Given the description of an element on the screen output the (x, y) to click on. 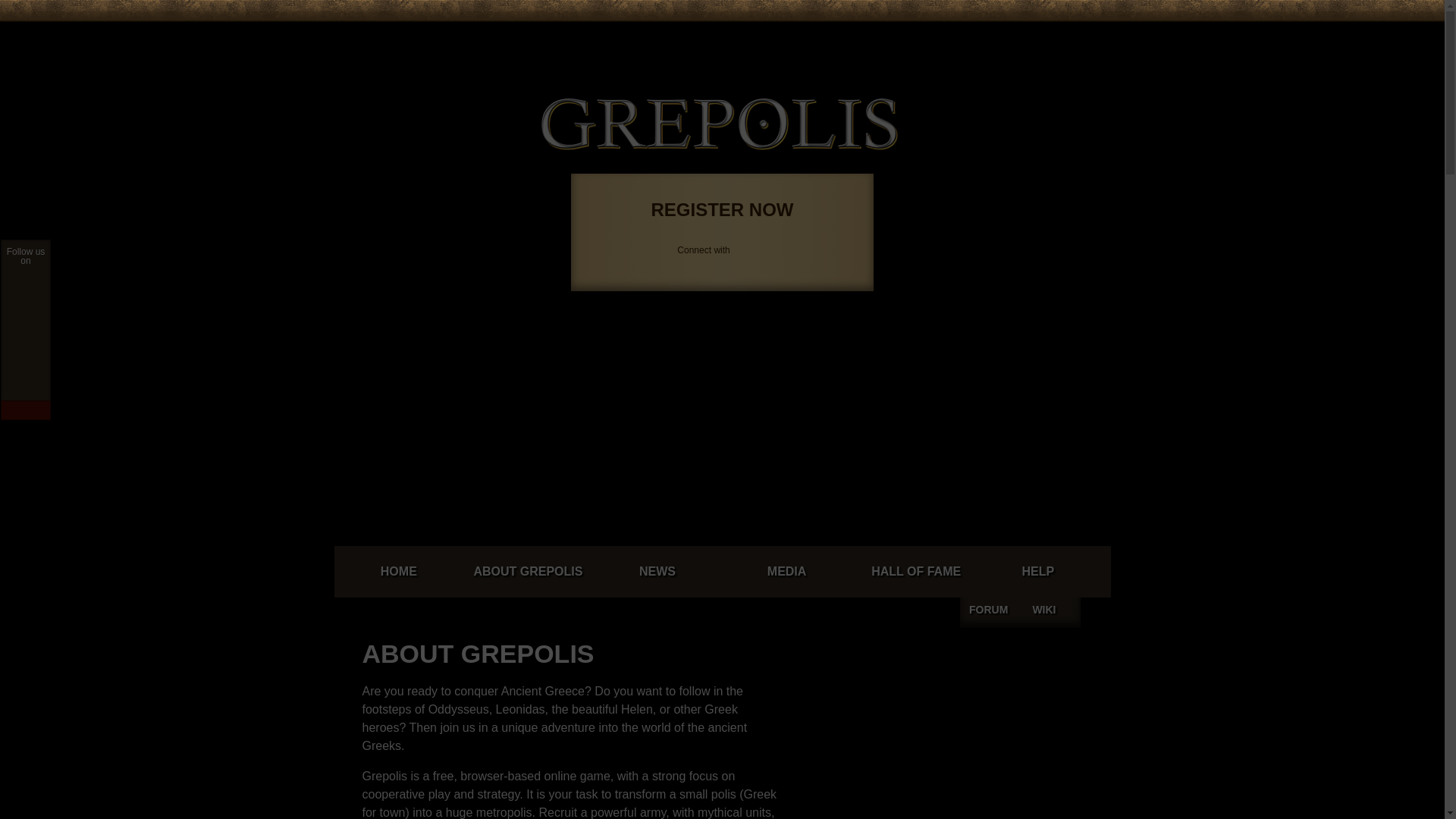
Connect with Facebook (909, 36)
HOME (398, 571)
Google (928, 36)
Grepolis (719, 124)
Facebook (909, 36)
